Given the description of an element on the screen output the (x, y) to click on. 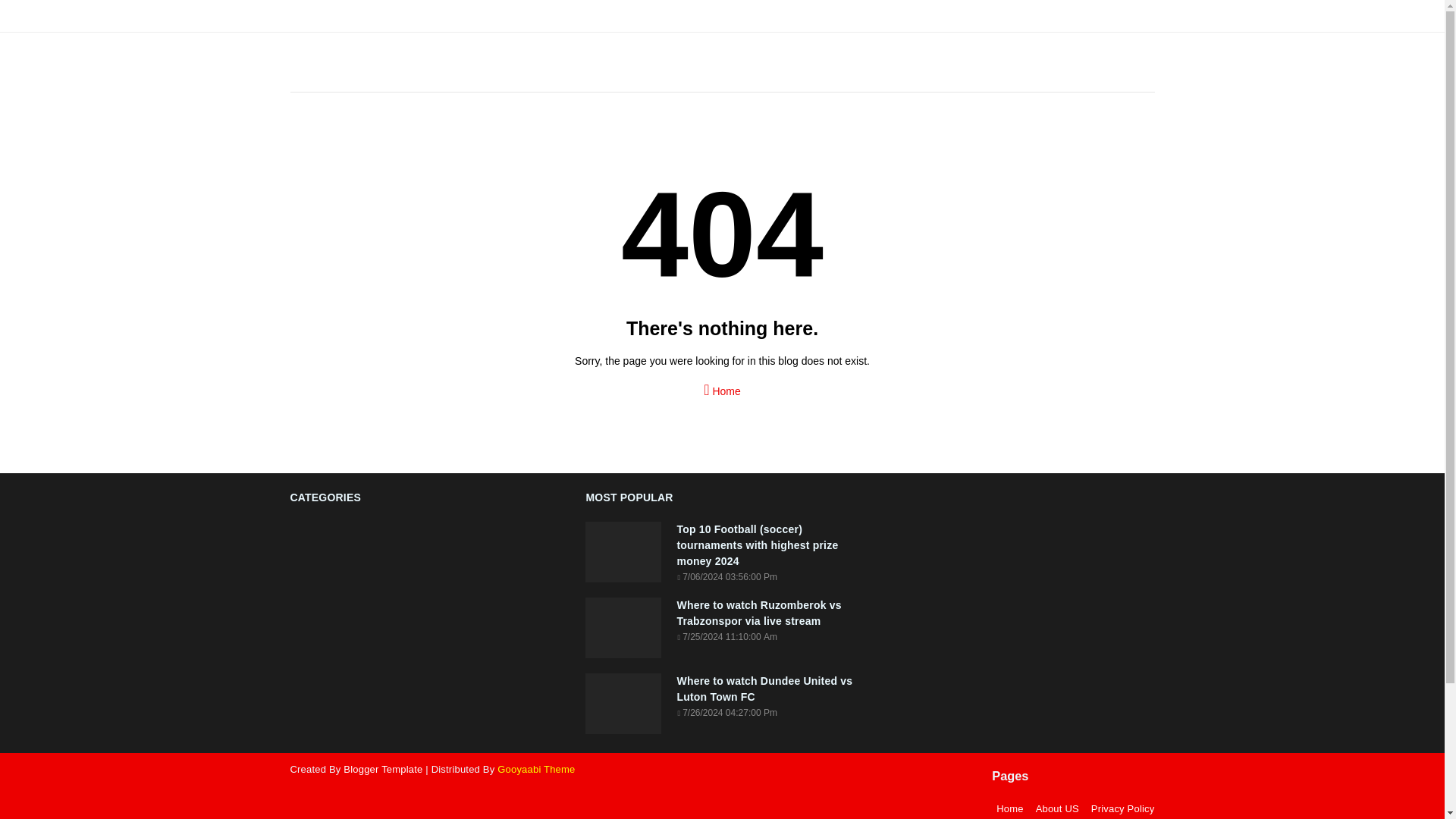
Blogger Template (382, 768)
SoraTemplates (382, 768)
About US (1056, 807)
Home (1009, 807)
Where to watch Dundee United vs Luton Town FC (768, 689)
Gooyaabi Theme (536, 768)
Home (721, 385)
Privacy Policy (1120, 807)
Where to watch Ruzomberok vs Trabzonspor via live stream (768, 613)
Gooyaabi Theme (536, 768)
